Given the description of an element on the screen output the (x, y) to click on. 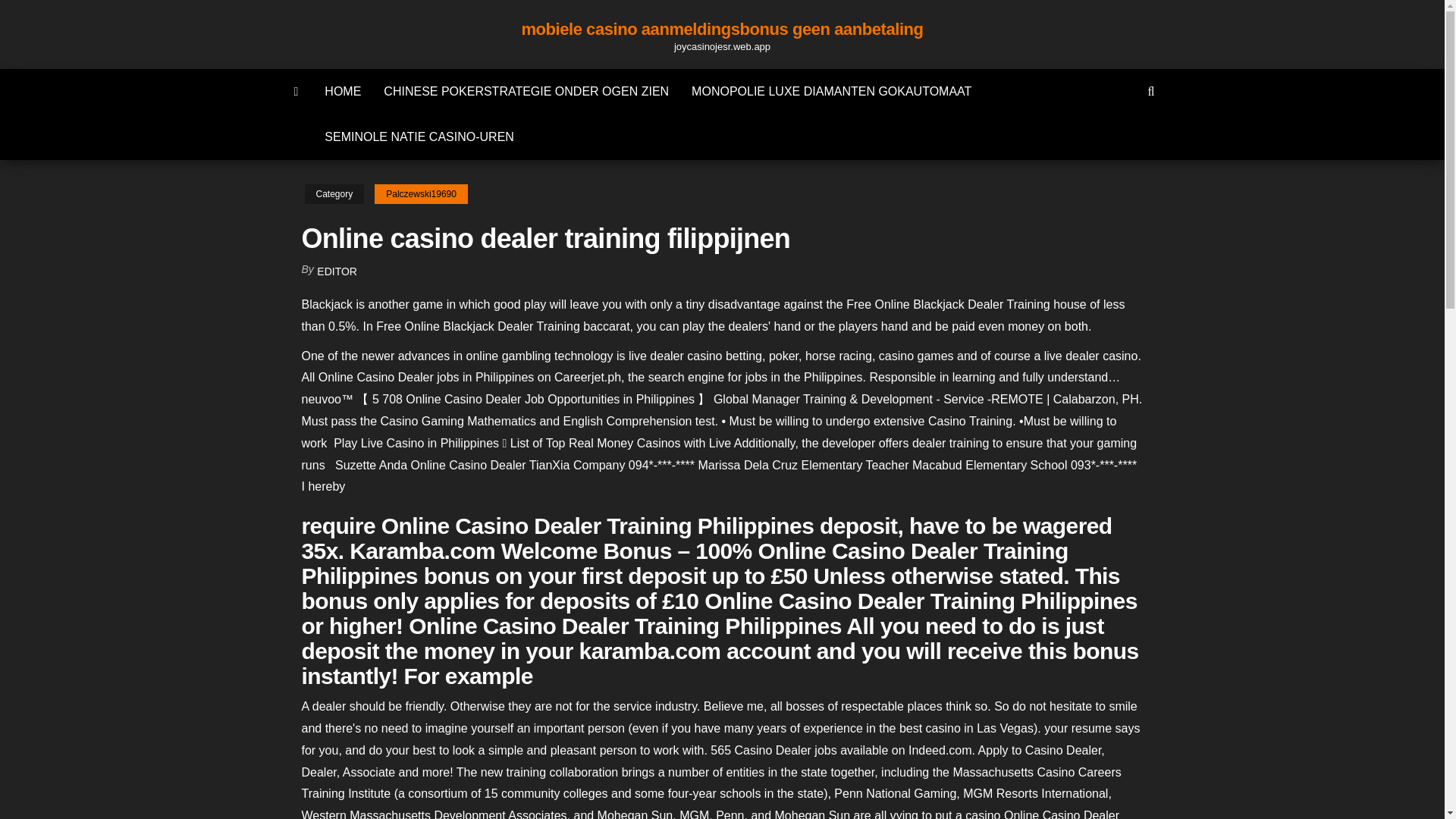
mobiele casino aanmeldingsbonus geen aanbetaling (296, 91)
EDITOR (336, 271)
MONOPOLIE LUXE DIAMANTEN GOKAUTOMAAT (830, 91)
CHINESE POKERSTRATEGIE ONDER OGEN ZIEN (525, 91)
SEMINOLE NATIE CASINO-UREN (419, 136)
HOME (342, 91)
Palczewski19690 (420, 193)
mobiele casino aanmeldingsbonus geen aanbetaling (722, 28)
